Given the description of an element on the screen output the (x, y) to click on. 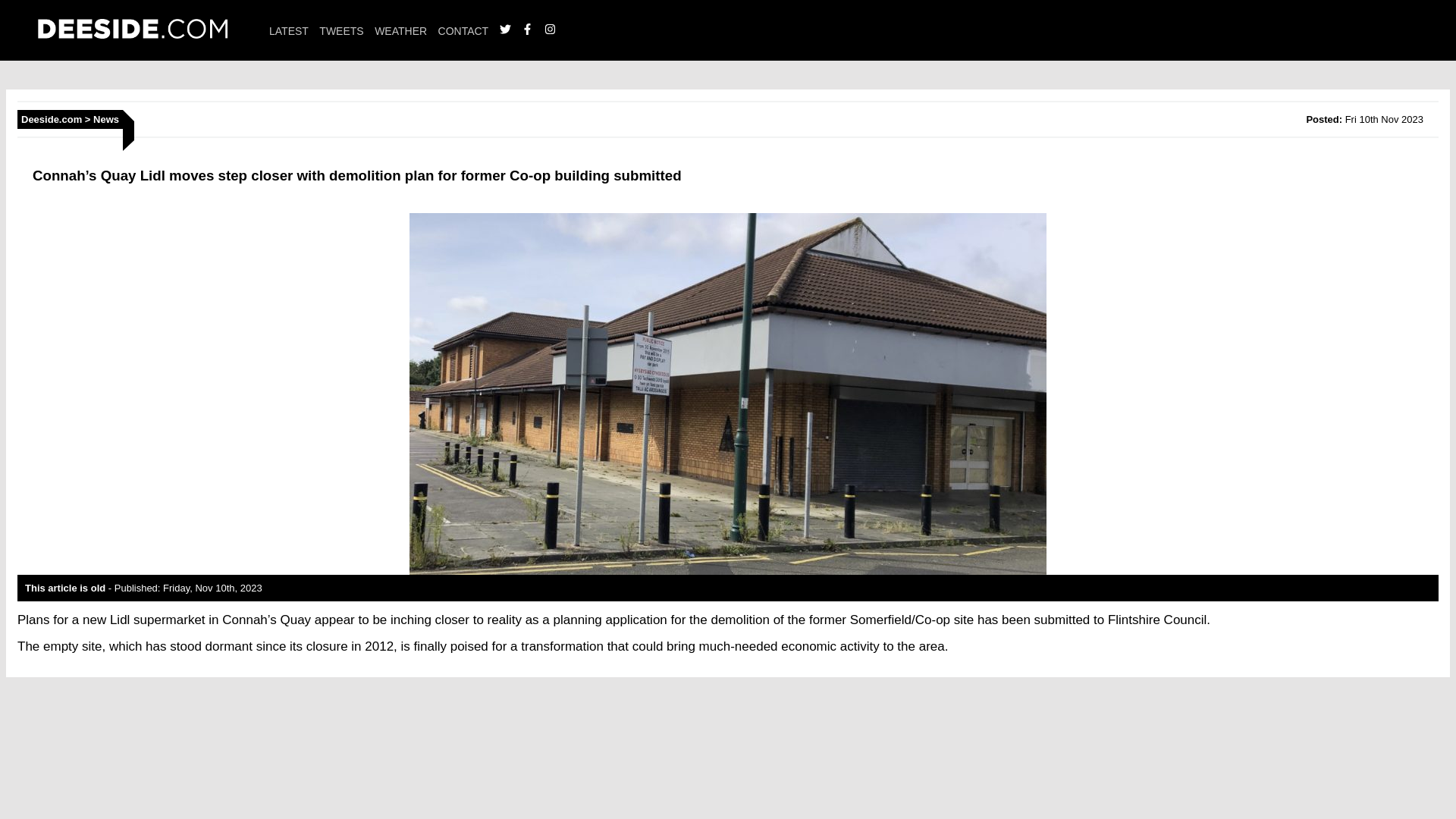
CONTACT (463, 30)
TWEETS (340, 30)
LATEST (288, 30)
WEATHER (400, 30)
